Given the description of an element on the screen output the (x, y) to click on. 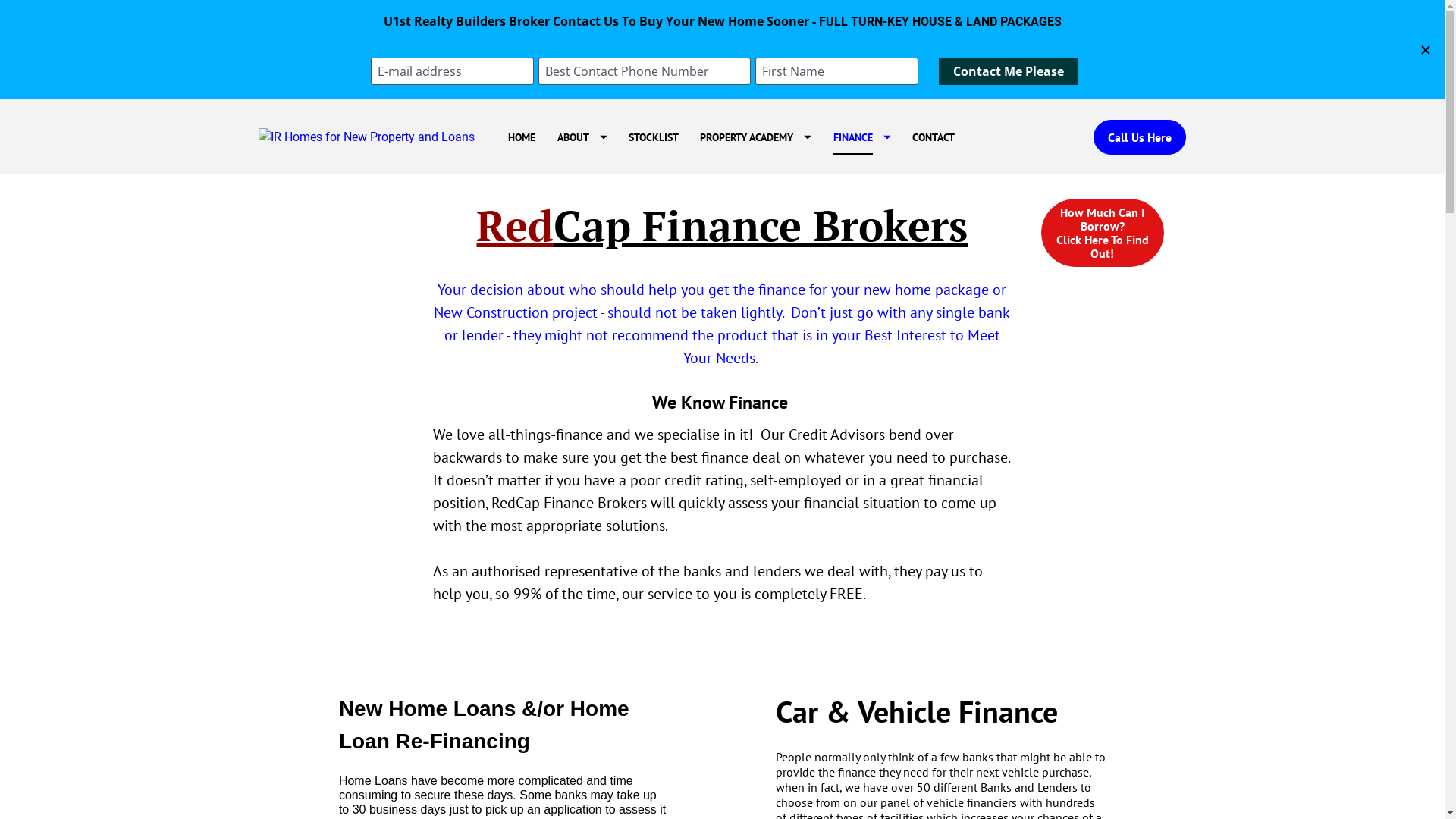
How Much Can I Borrow?
Click Here To Find Out! Element type: text (1102, 232)
Cap Finance Brokers Element type: text (760, 225)
HOME Element type: text (521, 136)
PROPERTY ACADEMY Element type: text (755, 136)
Red Element type: text (514, 225)
CONTACT Element type: text (933, 136)
STOCKLIST Element type: text (653, 136)
Call Us Here Element type: text (1139, 136)
ABOUT Element type: text (582, 136)
FINANCE Element type: text (862, 136)
